Given the description of an element on the screen output the (x, y) to click on. 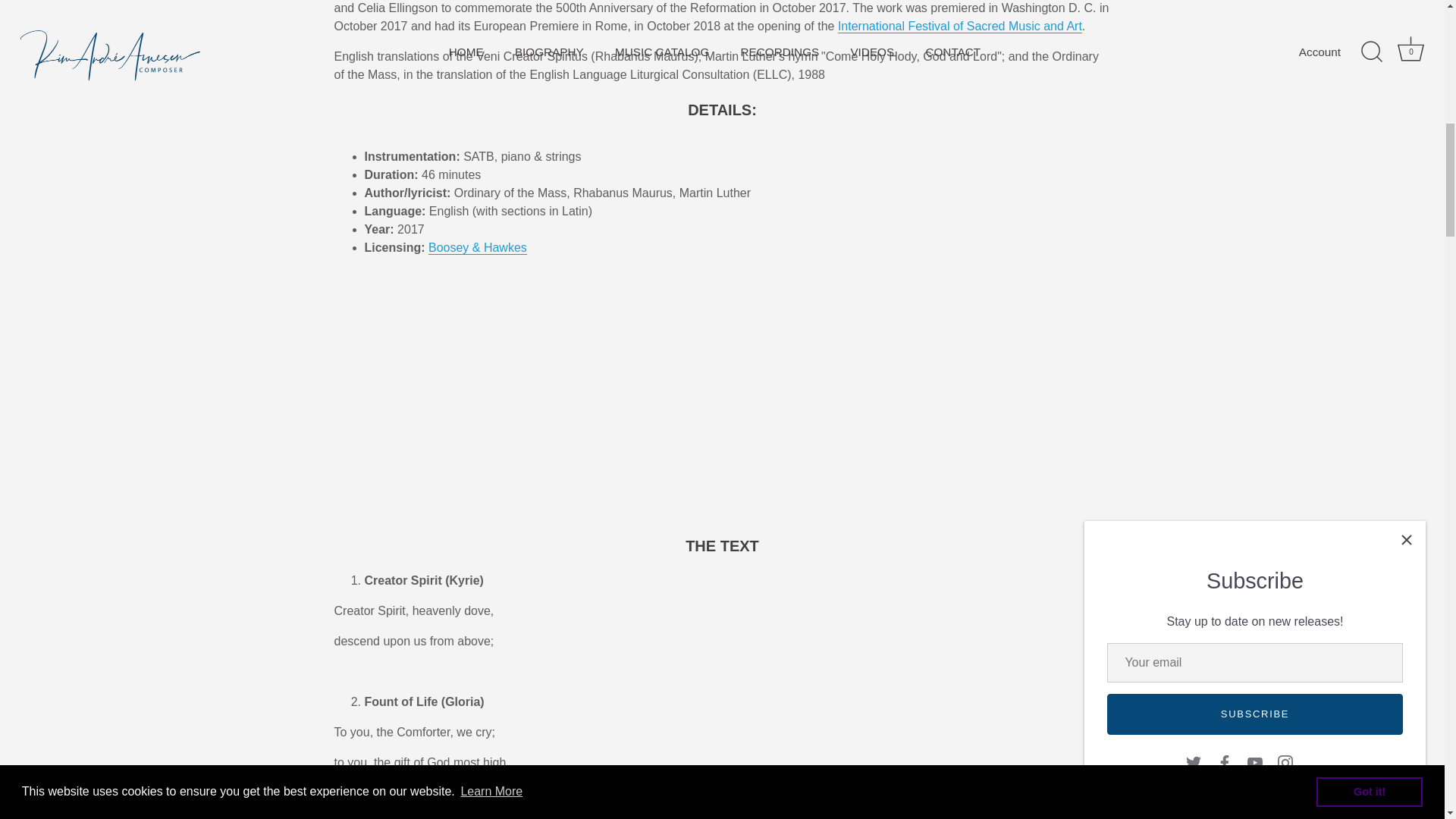
International Festival of Sacred Music and Art (959, 26)
YouTube video player (545, 400)
